Given the description of an element on the screen output the (x, y) to click on. 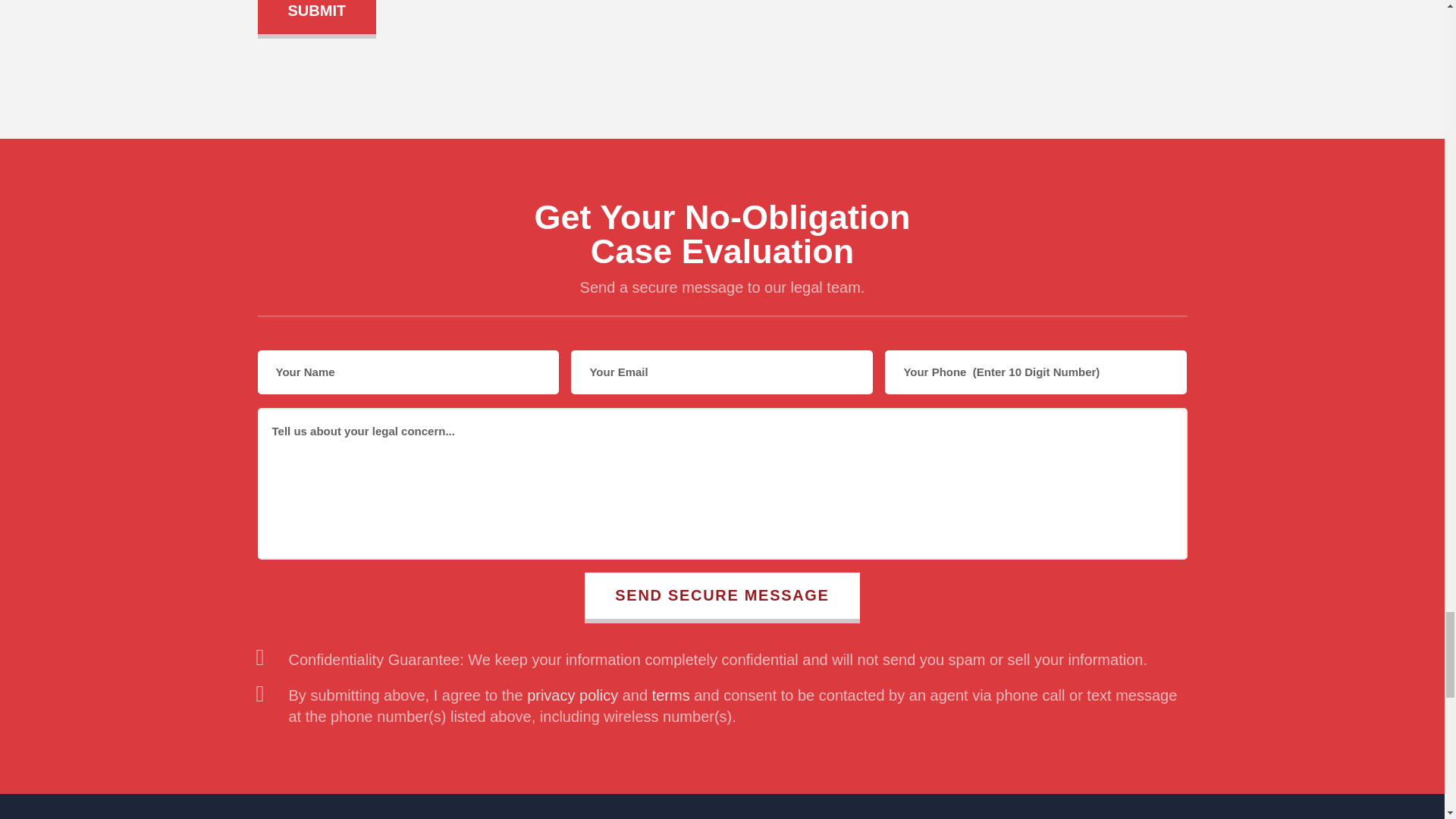
SEND SECURE MESSAGE (722, 597)
SUBMIT (317, 17)
SUBMIT (317, 17)
